Given the description of an element on the screen output the (x, y) to click on. 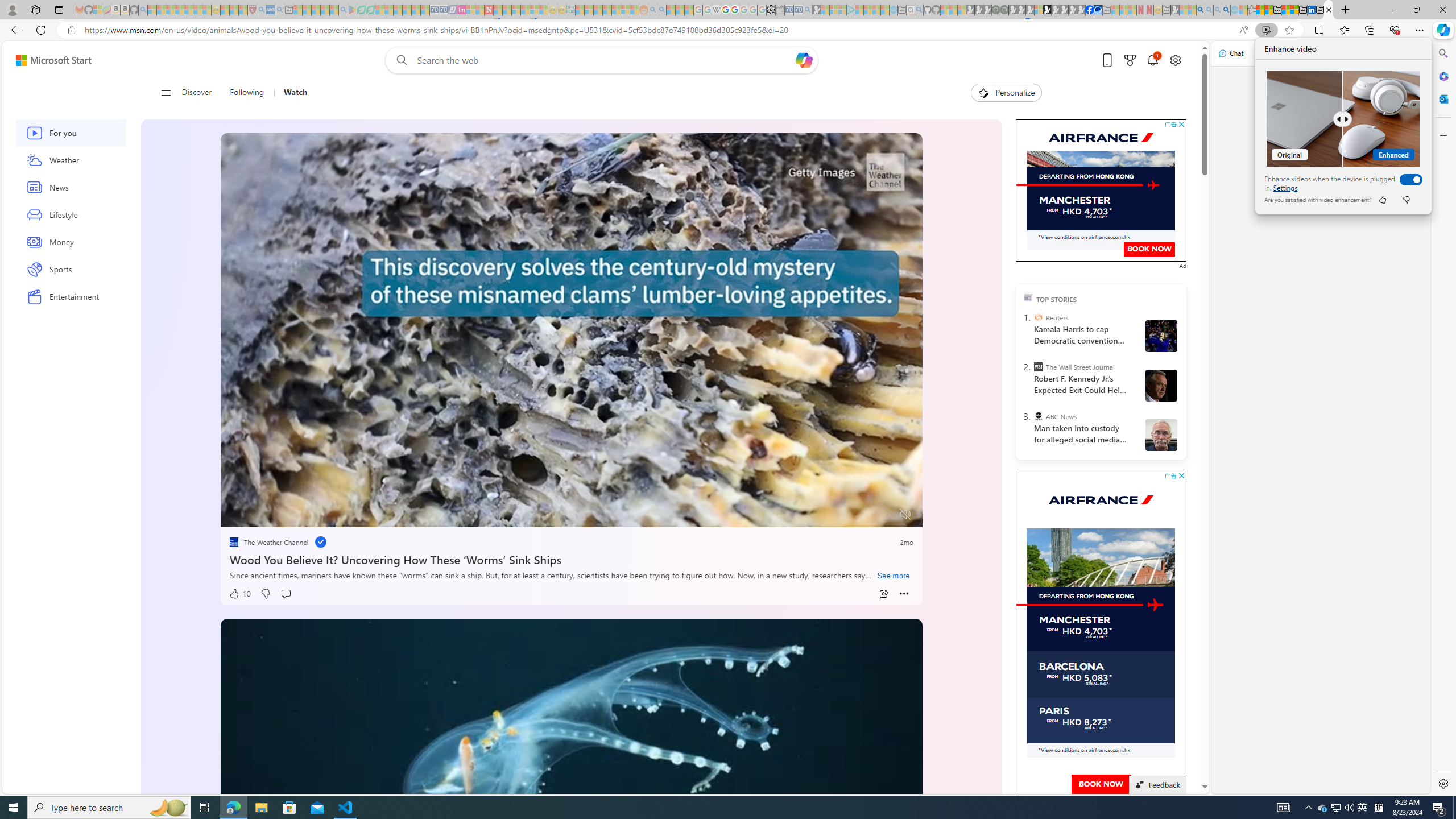
Target page - Wikipedia - Sleeping (716, 9)
MSN - Sleeping (1174, 9)
10 Like (240, 593)
Visual Studio Code - 1 running window (345, 807)
